Given the description of an element on the screen output the (x, y) to click on. 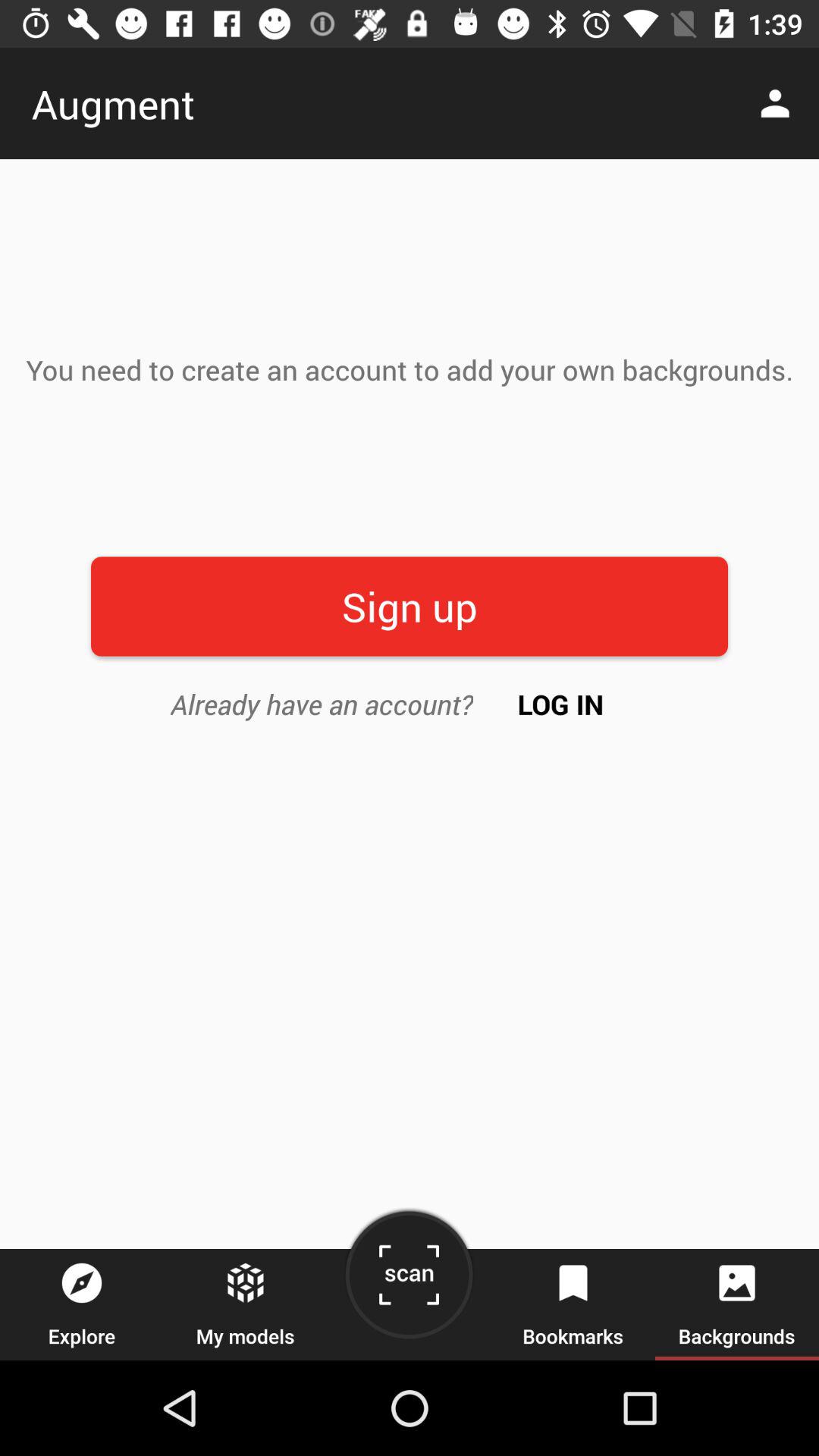
select the item to the right of the already have an icon (560, 703)
